Given the description of an element on the screen output the (x, y) to click on. 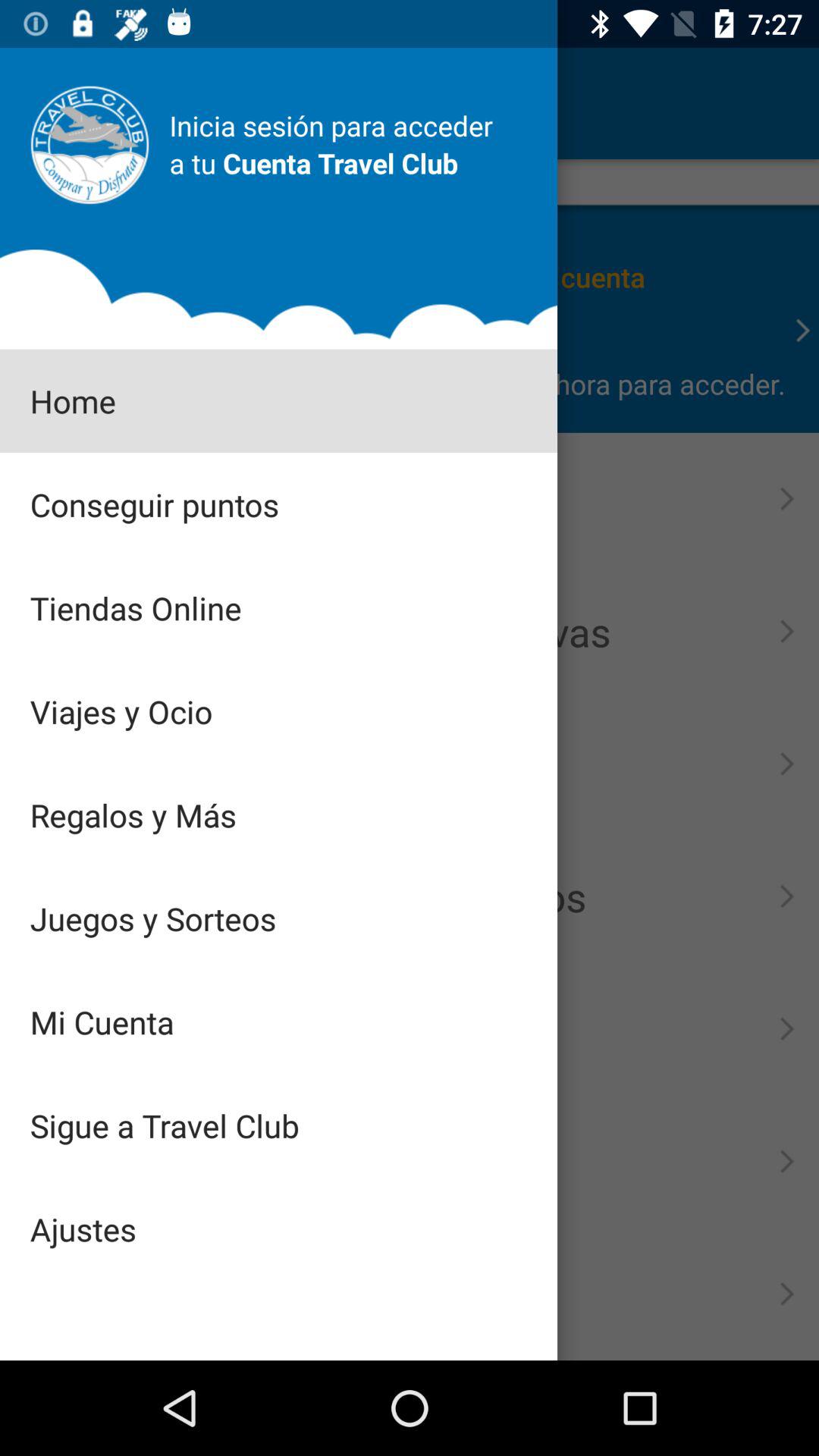
click on the third right arrow (786, 631)
